Given the description of an element on the screen output the (x, y) to click on. 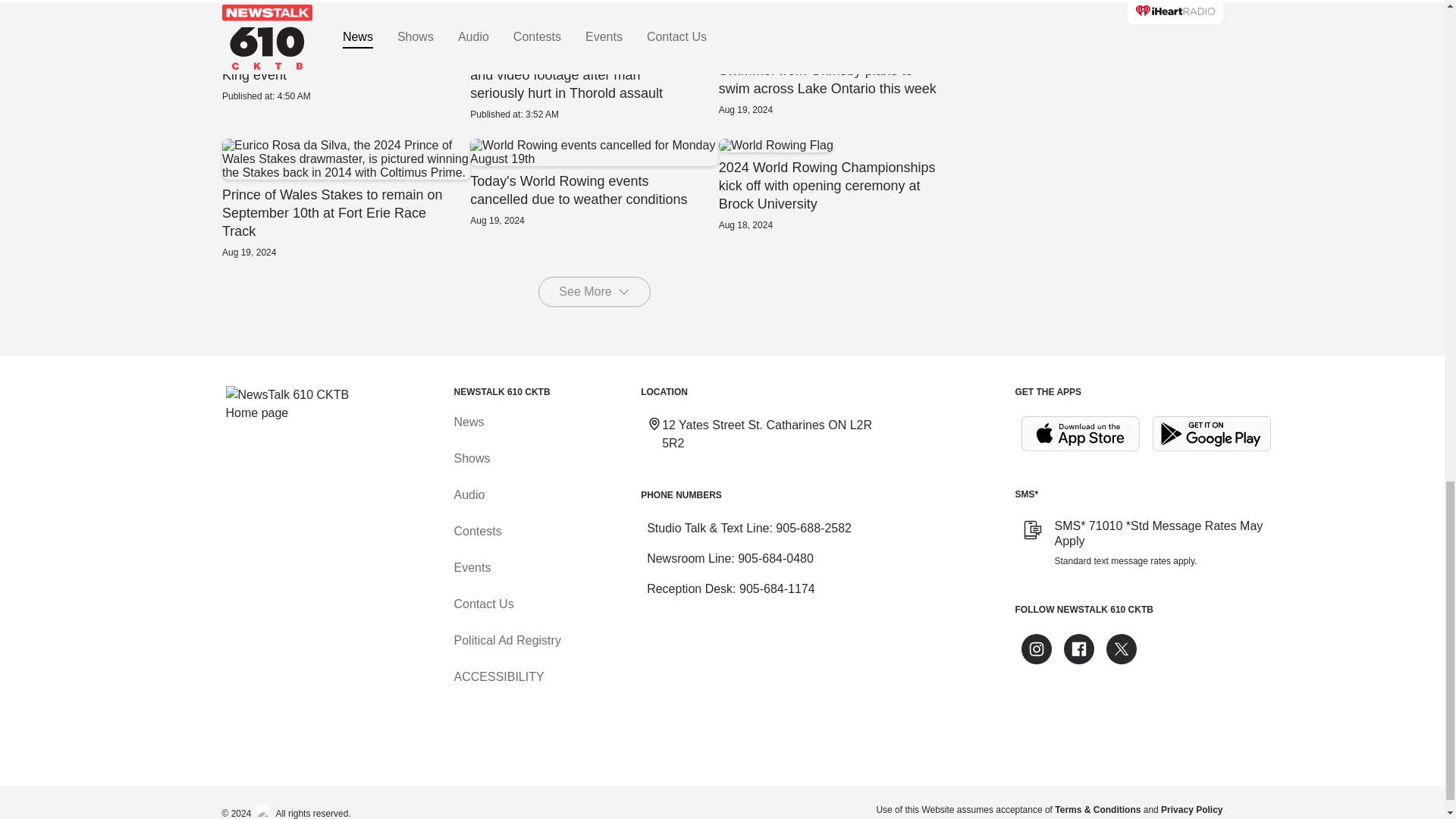
Political Ad Registry (506, 640)
Contests (476, 530)
See More (593, 291)
905-684-1174 (777, 588)
Contact Us (482, 603)
Audio (468, 494)
